Given the description of an element on the screen output the (x, y) to click on. 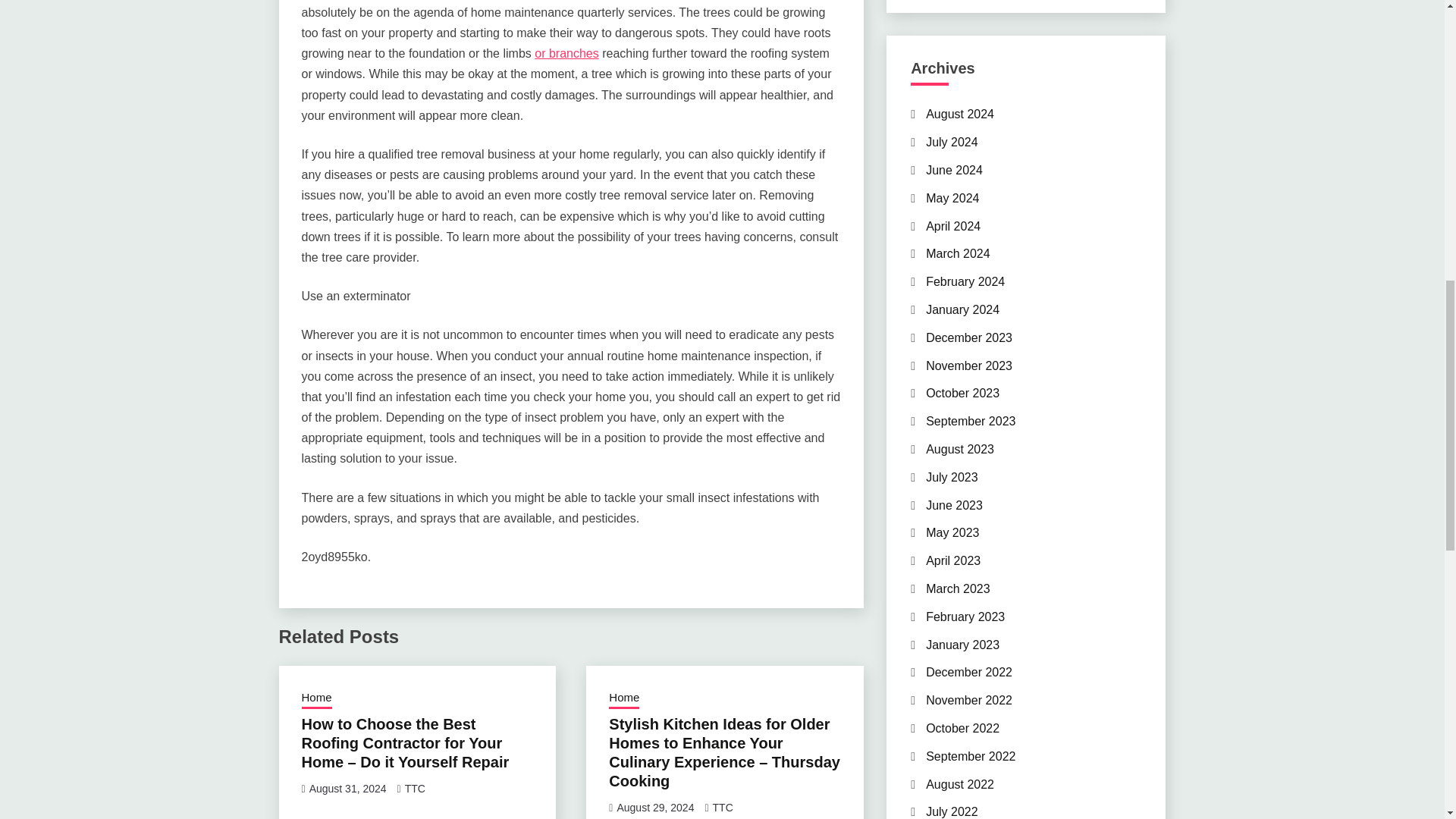
July 2024 (952, 141)
Home (316, 699)
May 2024 (952, 197)
August 31, 2024 (347, 788)
or branches (566, 52)
August 29, 2024 (654, 807)
TTC (723, 807)
August 2024 (960, 113)
TTC (414, 788)
Home (623, 699)
